Given the description of an element on the screen output the (x, y) to click on. 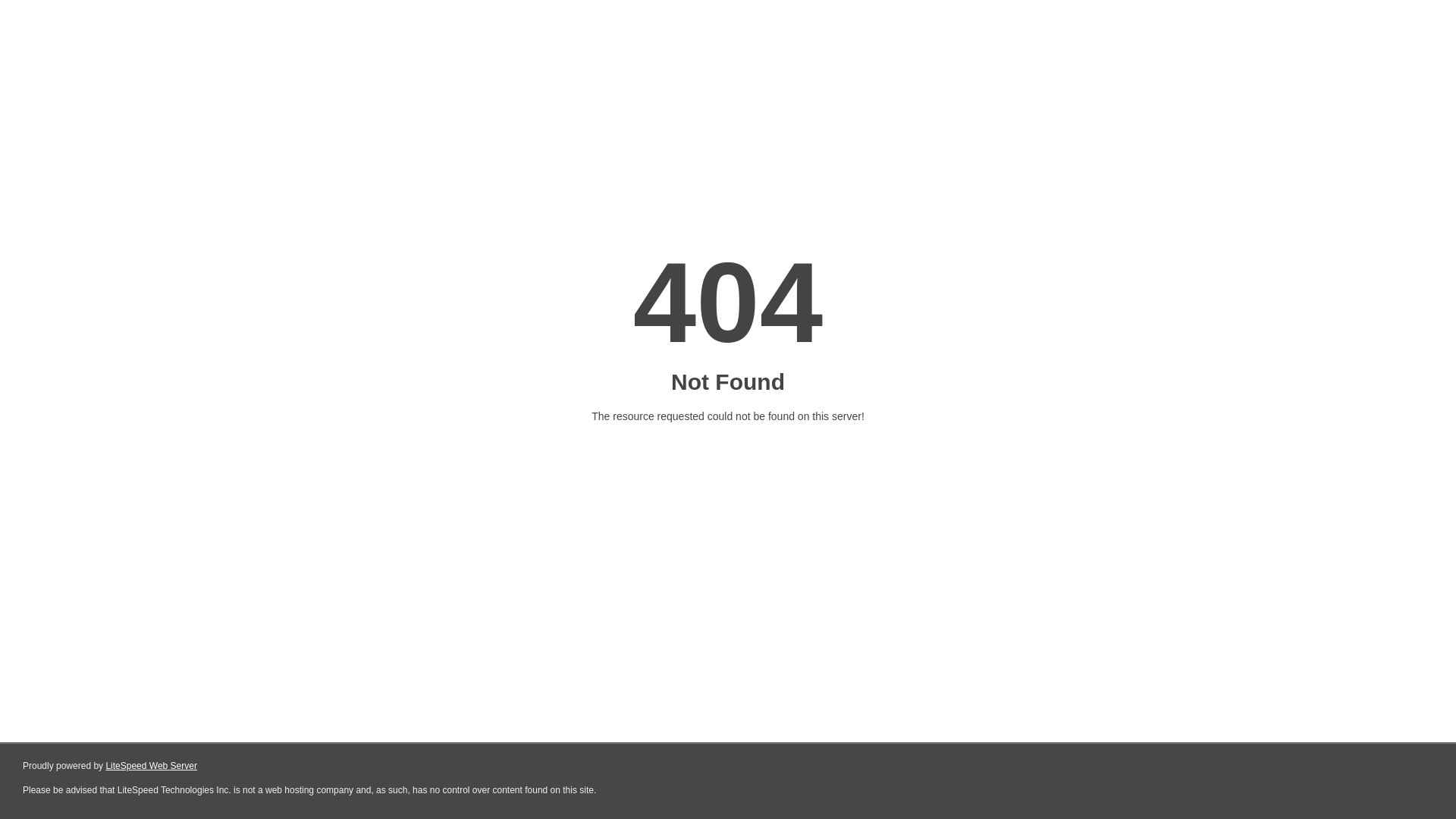
LiteSpeed Web Server Element type: text (151, 765)
